Given the description of an element on the screen output the (x, y) to click on. 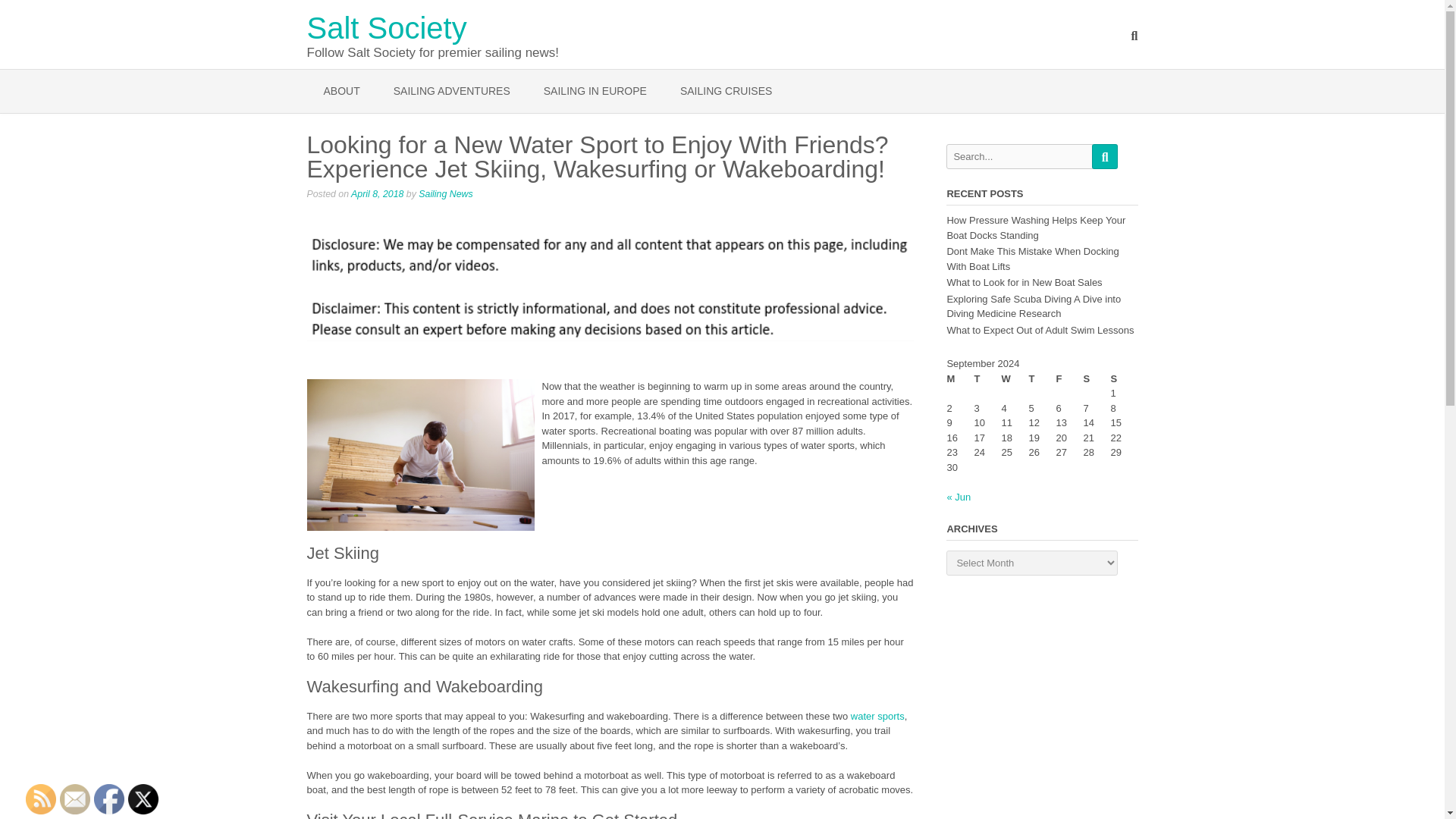
RSS (41, 798)
SAILING ADVENTURES (452, 91)
Tuesday (987, 378)
Search for: (1019, 156)
Friday (1069, 378)
How Pressure Washing Helps Keep Your Boat Docks Standing (1035, 227)
water sports (877, 715)
Thursday (1041, 378)
ABOUT (340, 91)
Information related to Lake berryessa jet ski rental (877, 715)
